Given the description of an element on the screen output the (x, y) to click on. 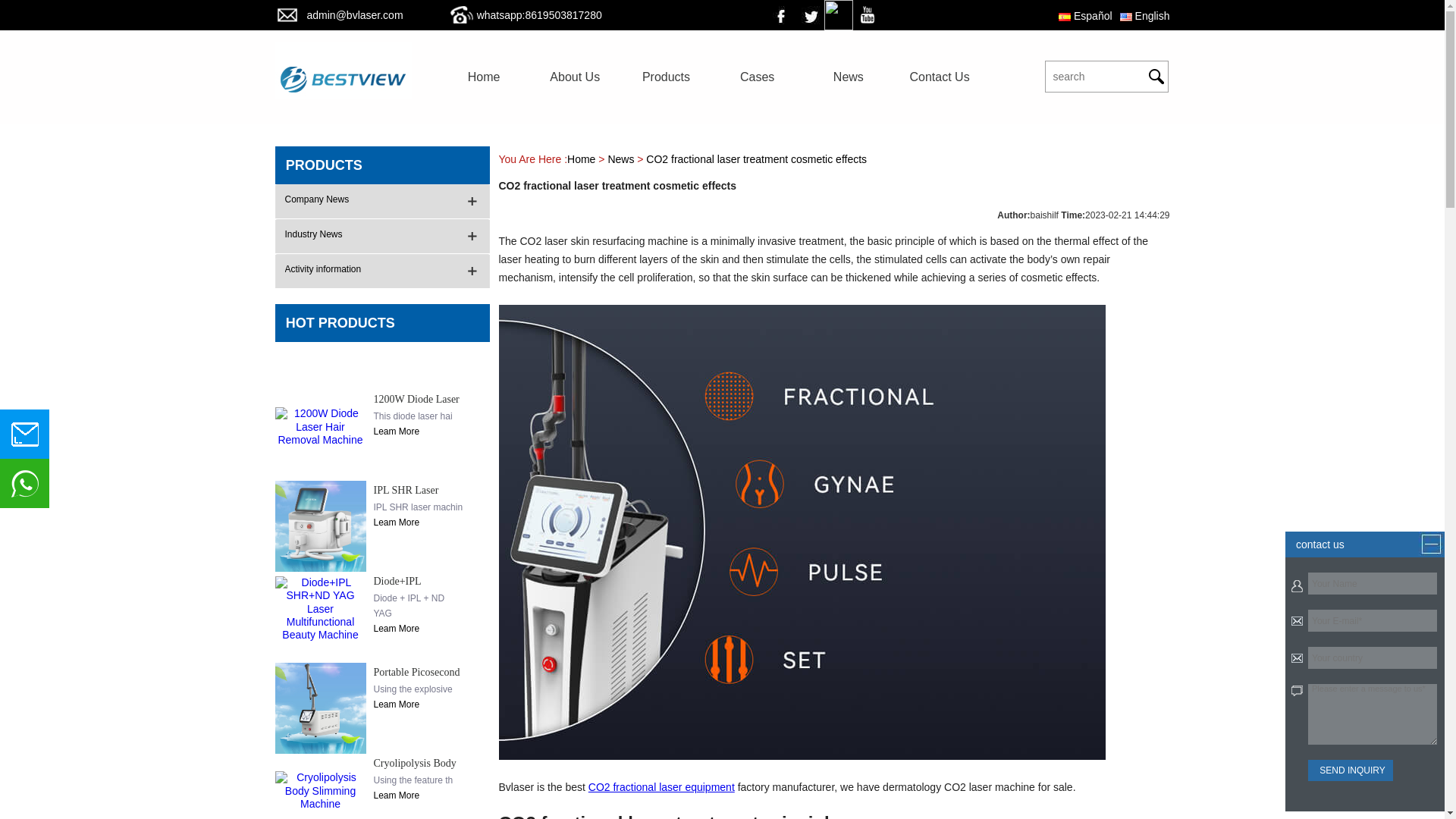
Cases (757, 76)
Contact Us (939, 76)
News (848, 76)
Home (483, 76)
SEND INQUIRY (1350, 770)
Products (665, 76)
search... (1088, 76)
About Us (574, 76)
